Given the description of an element on the screen output the (x, y) to click on. 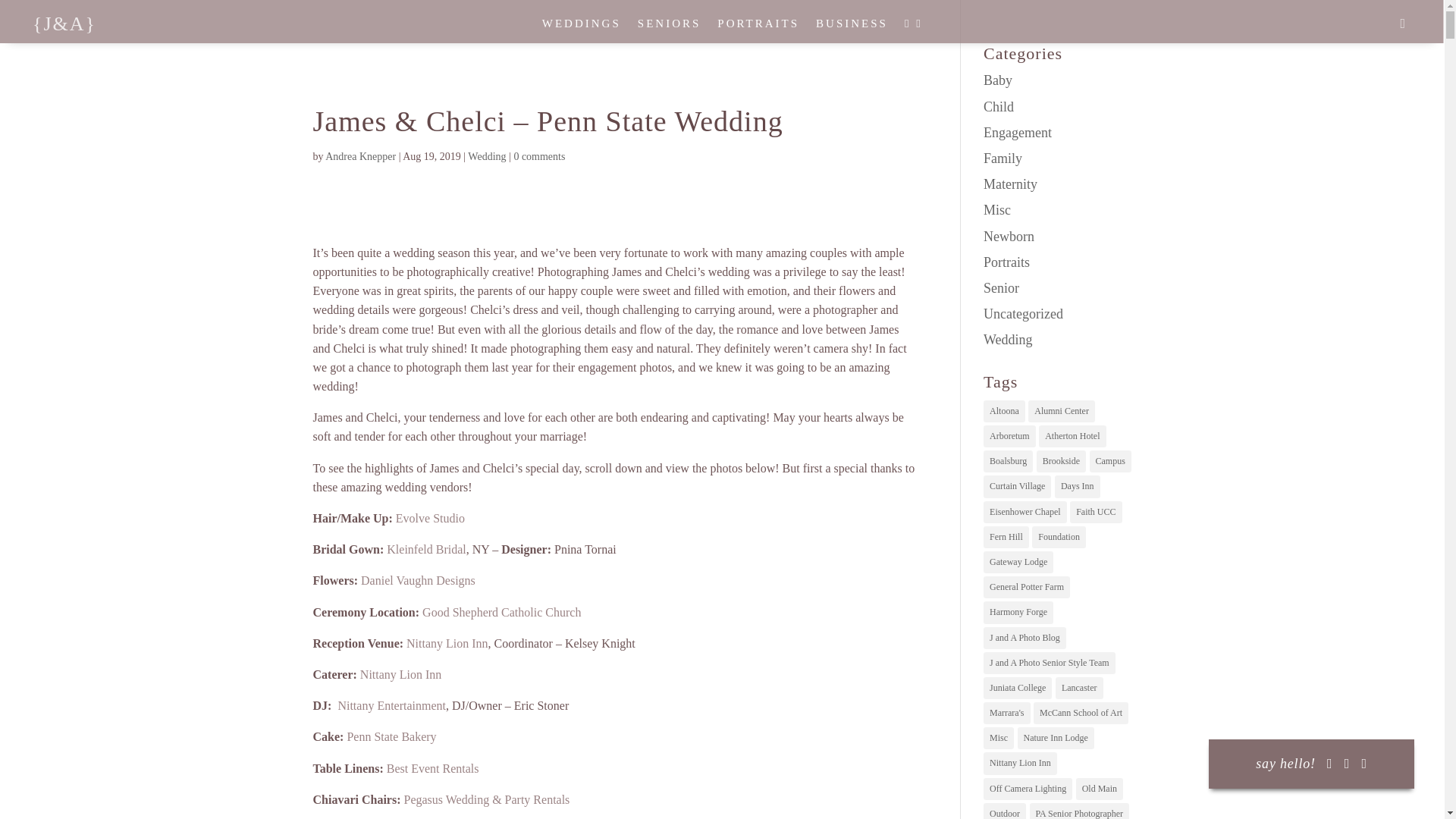
Posts by Andrea Knepper (360, 156)
BUSINESS (851, 27)
Andrea Knepper (360, 156)
WEDDINGS (581, 27)
SENIORS (669, 27)
Wedding (486, 156)
PORTRAITS (758, 27)
